Given the description of an element on the screen output the (x, y) to click on. 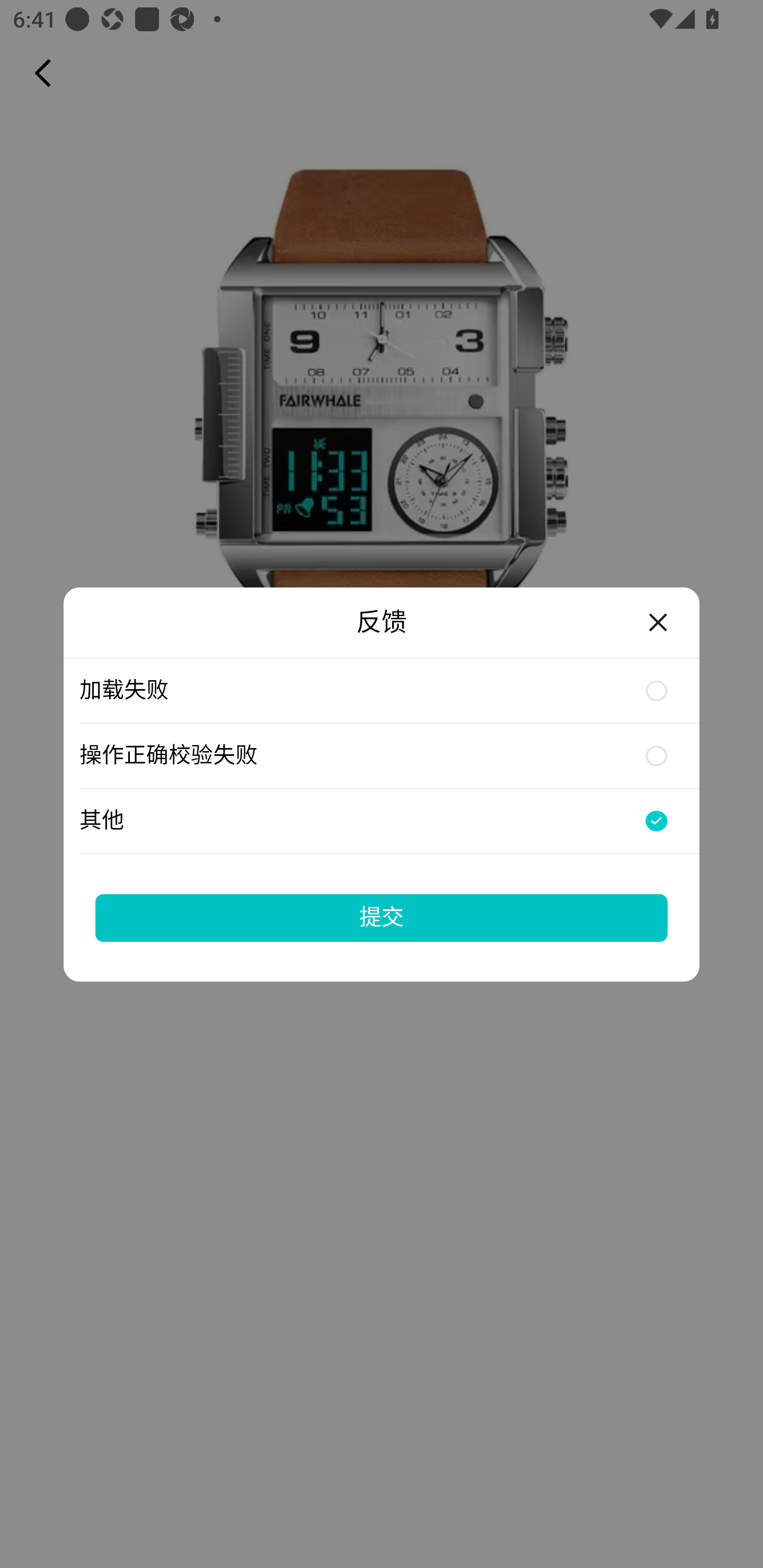
提交 (381, 917)
